Given the description of an element on the screen output the (x, y) to click on. 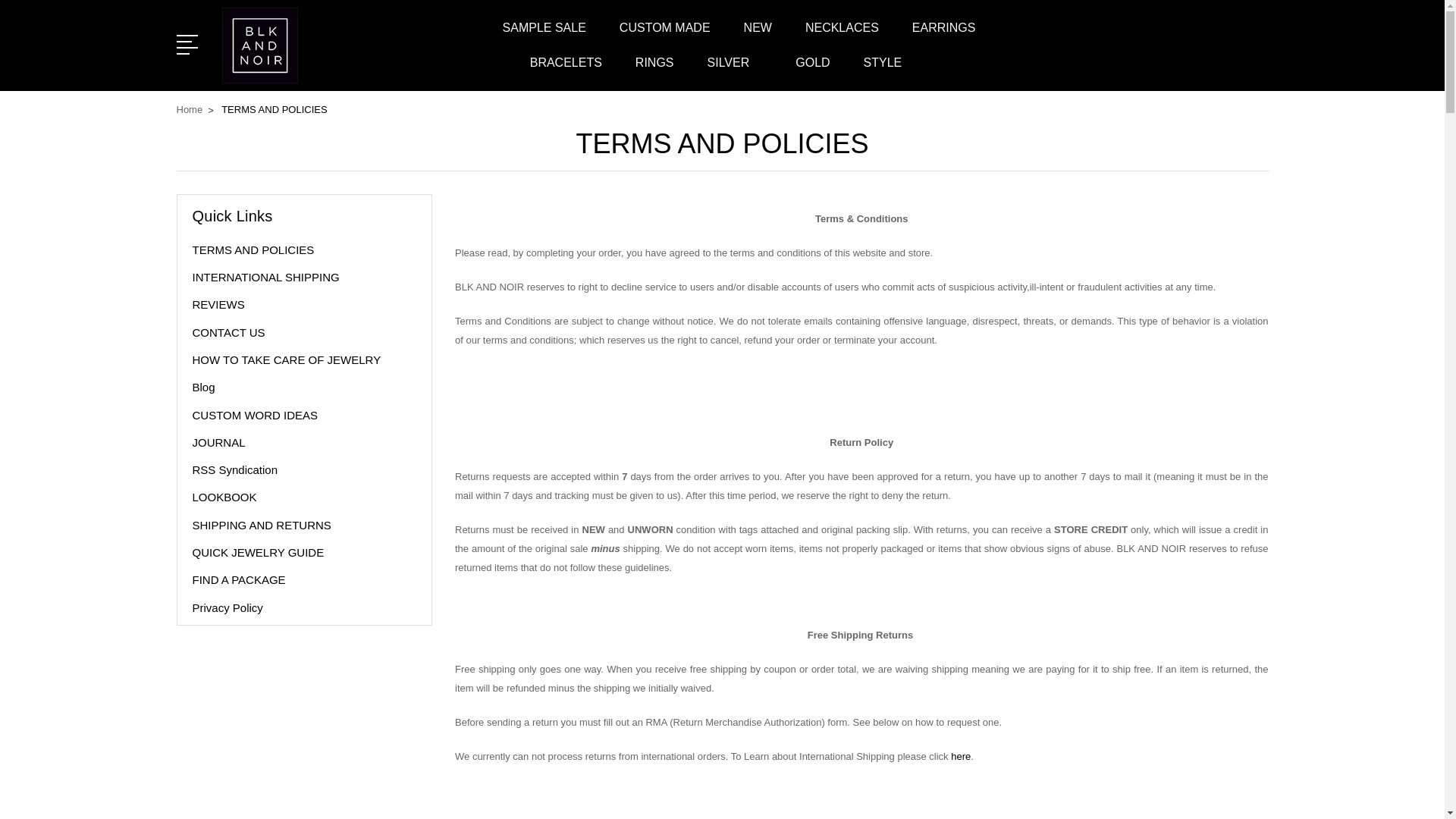
NECKLACES (842, 36)
GOLD (811, 71)
RINGS (654, 71)
CUSTOM MADE (665, 36)
STYLE (889, 71)
SAMPLE SALE (544, 36)
BRACELETS (565, 71)
SILVER (734, 71)
EARRINGS (943, 36)
